Given the description of an element on the screen output the (x, y) to click on. 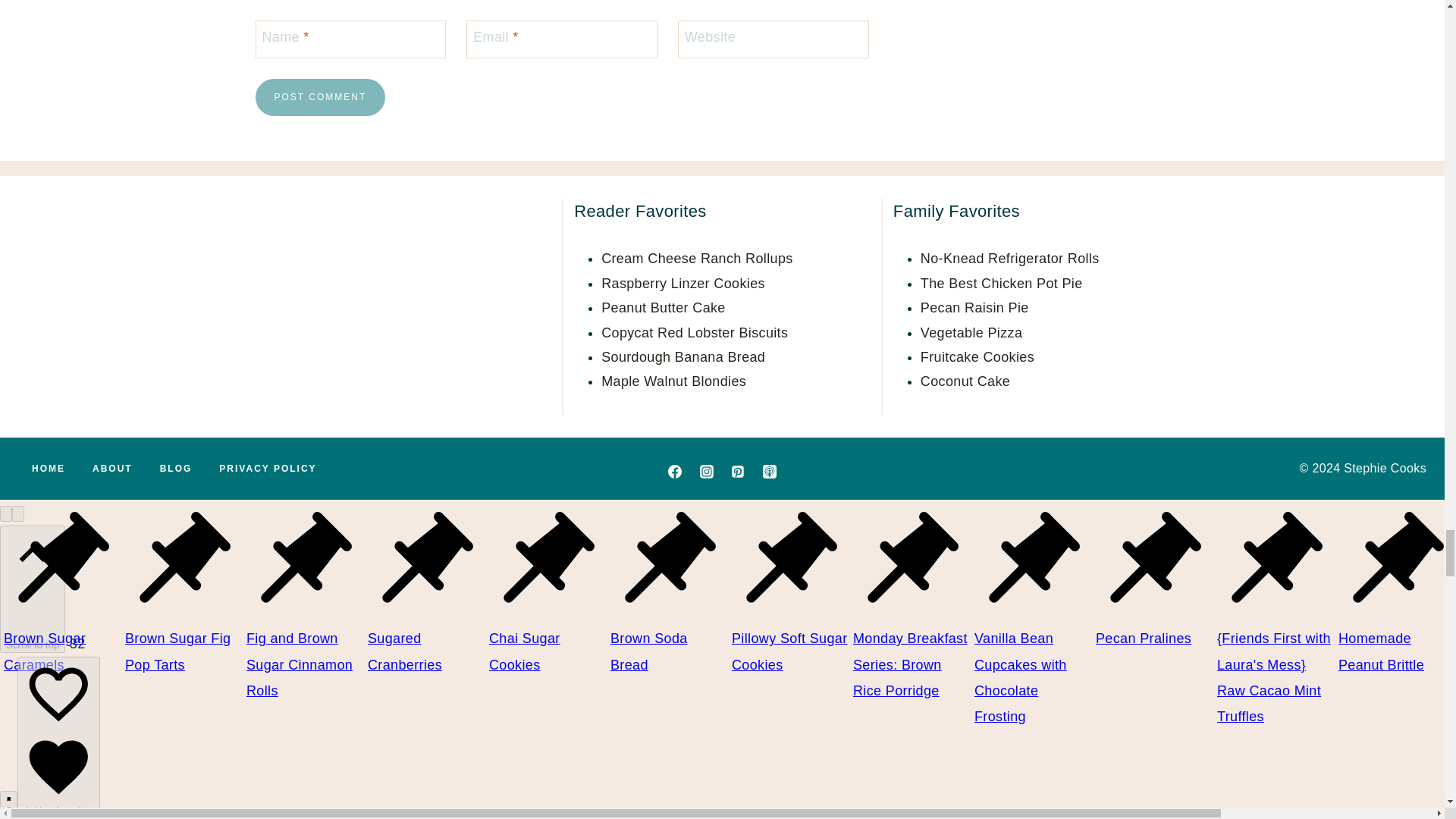
Post Comment (319, 97)
